Given the description of an element on the screen output the (x, y) to click on. 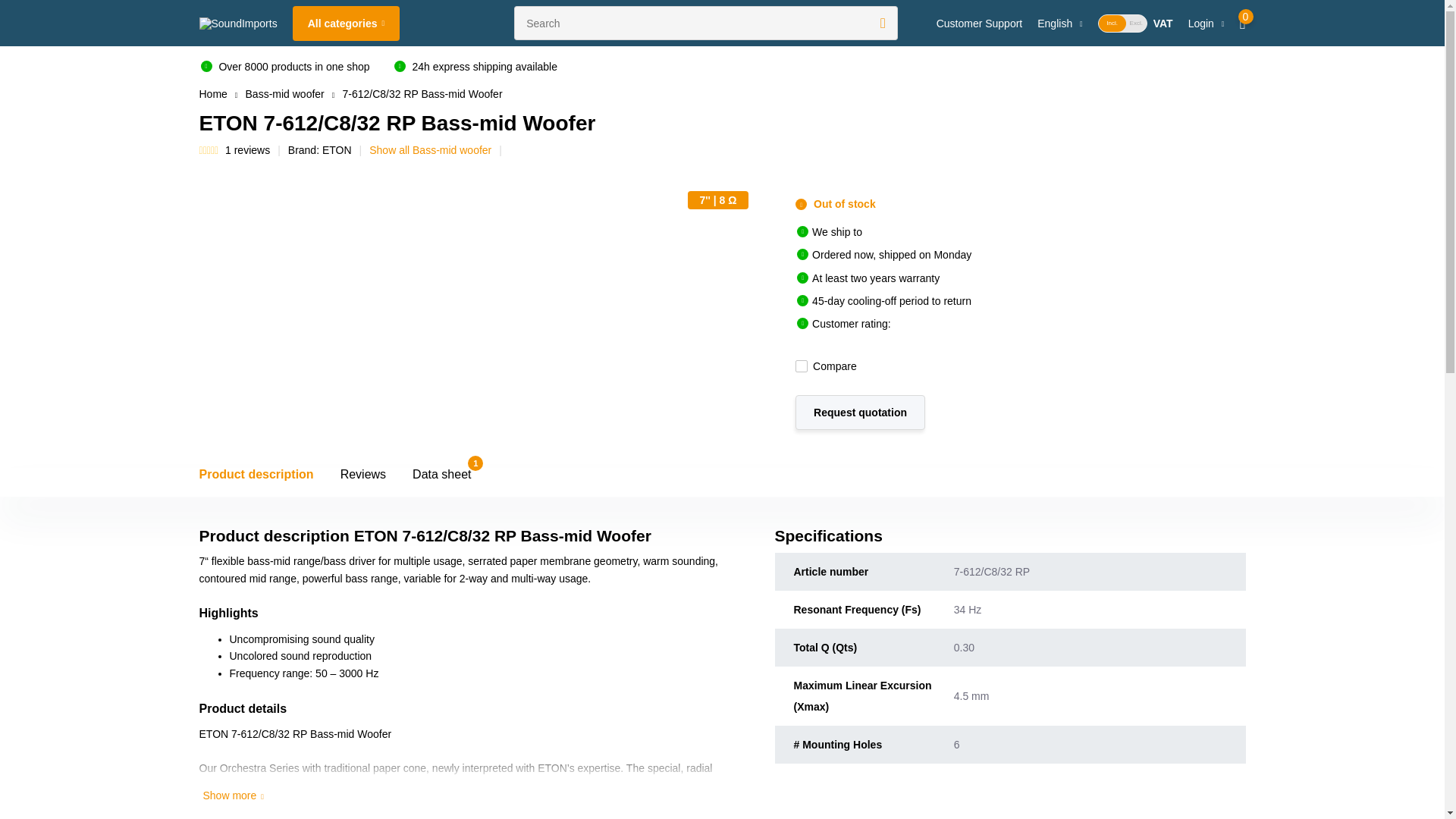
All categories (345, 22)
